Given the description of an element on the screen output the (x, y) to click on. 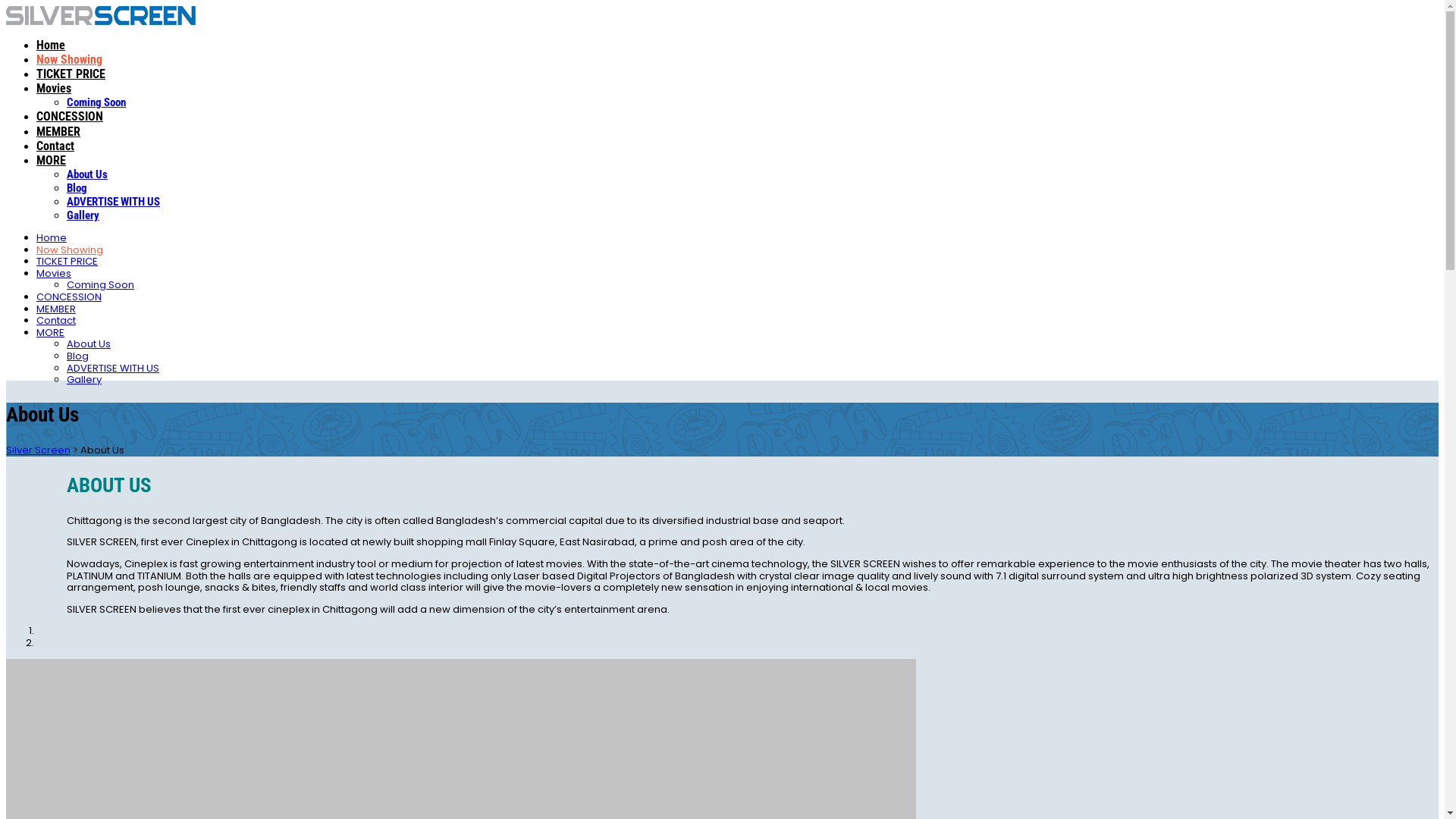
Now Showing Element type: text (69, 59)
ADVERTISE WITH US Element type: text (113, 201)
MORE Element type: text (50, 160)
Silver Screen Element type: text (38, 449)
Movies Element type: text (53, 88)
Coming Soon Element type: text (95, 102)
MORE Element type: text (50, 332)
Home Element type: text (50, 44)
Gallery Element type: text (83, 379)
Coming Soon Element type: text (100, 284)
Contact Element type: text (55, 145)
Blog Element type: text (77, 355)
Blog Element type: text (76, 187)
Home Element type: text (51, 237)
CONCESSION Element type: text (69, 116)
Movies Element type: text (53, 273)
ADVERTISE WITH US Element type: text (112, 367)
Gallery Element type: text (82, 215)
TICKET PRICE Element type: text (66, 261)
About Us Element type: text (86, 174)
About Us Element type: text (88, 343)
CONCESSION Element type: text (68, 296)
TICKET PRICE Element type: text (70, 73)
MEMBER Element type: text (58, 131)
Now Showing Element type: text (69, 249)
MEMBER Element type: text (55, 308)
Contact Element type: text (55, 320)
